Given the description of an element on the screen output the (x, y) to click on. 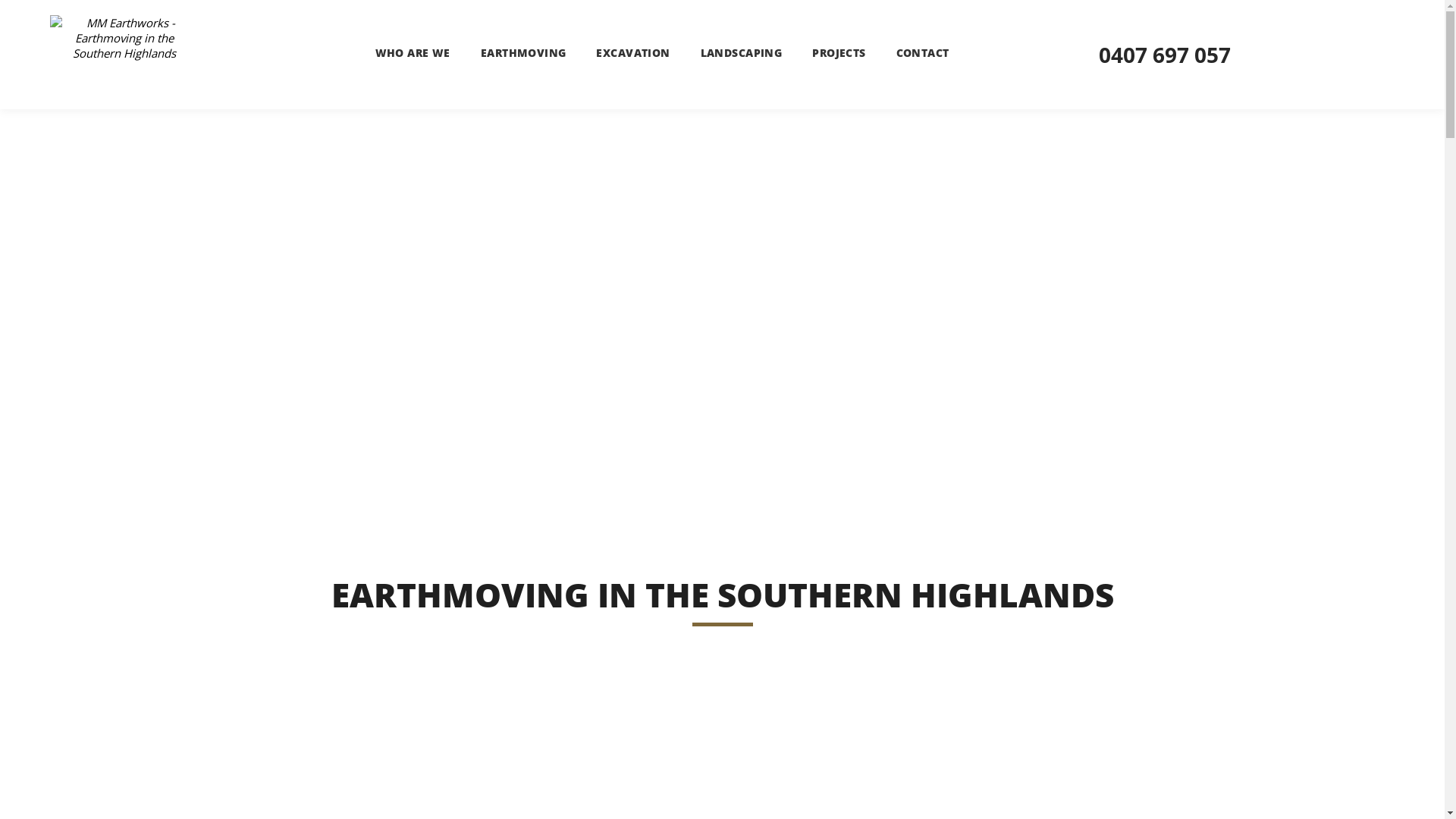
EARTHMOVING Element type: text (523, 52)
EXCAVATION Element type: text (632, 52)
PROJECTS Element type: text (838, 52)
WHO ARE WE Element type: text (412, 52)
0407 697 057 Element type: text (1164, 54)
MM Earthworks - Earthmoving in the Southern Highlands Element type: hover (124, 54)
LANDSCAPING Element type: text (741, 52)
CONTACT Element type: text (922, 52)
